Given the description of an element on the screen output the (x, y) to click on. 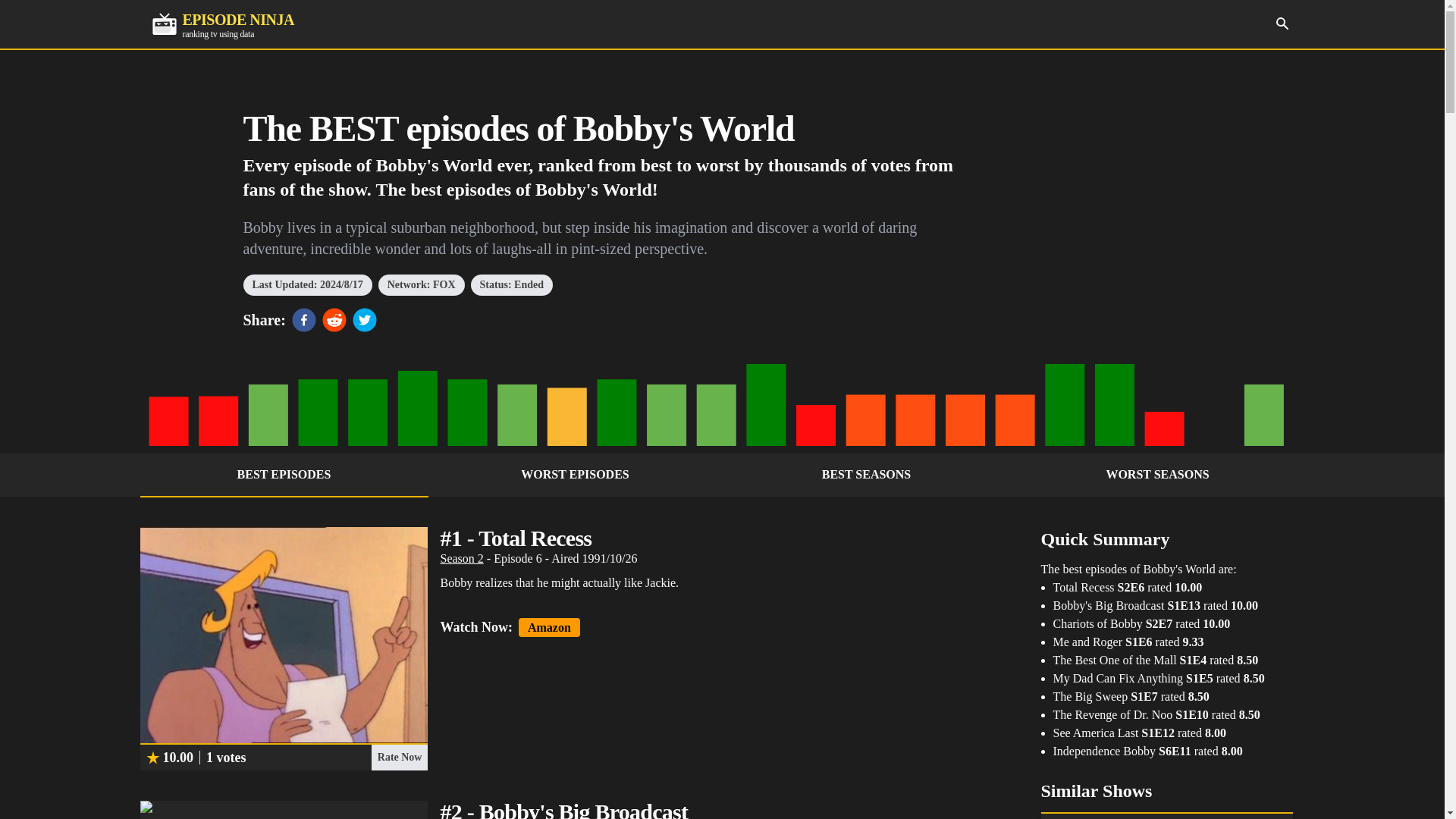
Search (1281, 22)
WORST SEASONS (1157, 474)
Rate Now (399, 757)
Network: FOX (421, 284)
WORST EPISODES (574, 474)
BEST EPISODES (283, 475)
Amazon (548, 627)
Season 2 (461, 558)
BEST SEASONS (222, 24)
